Given the description of an element on the screen output the (x, y) to click on. 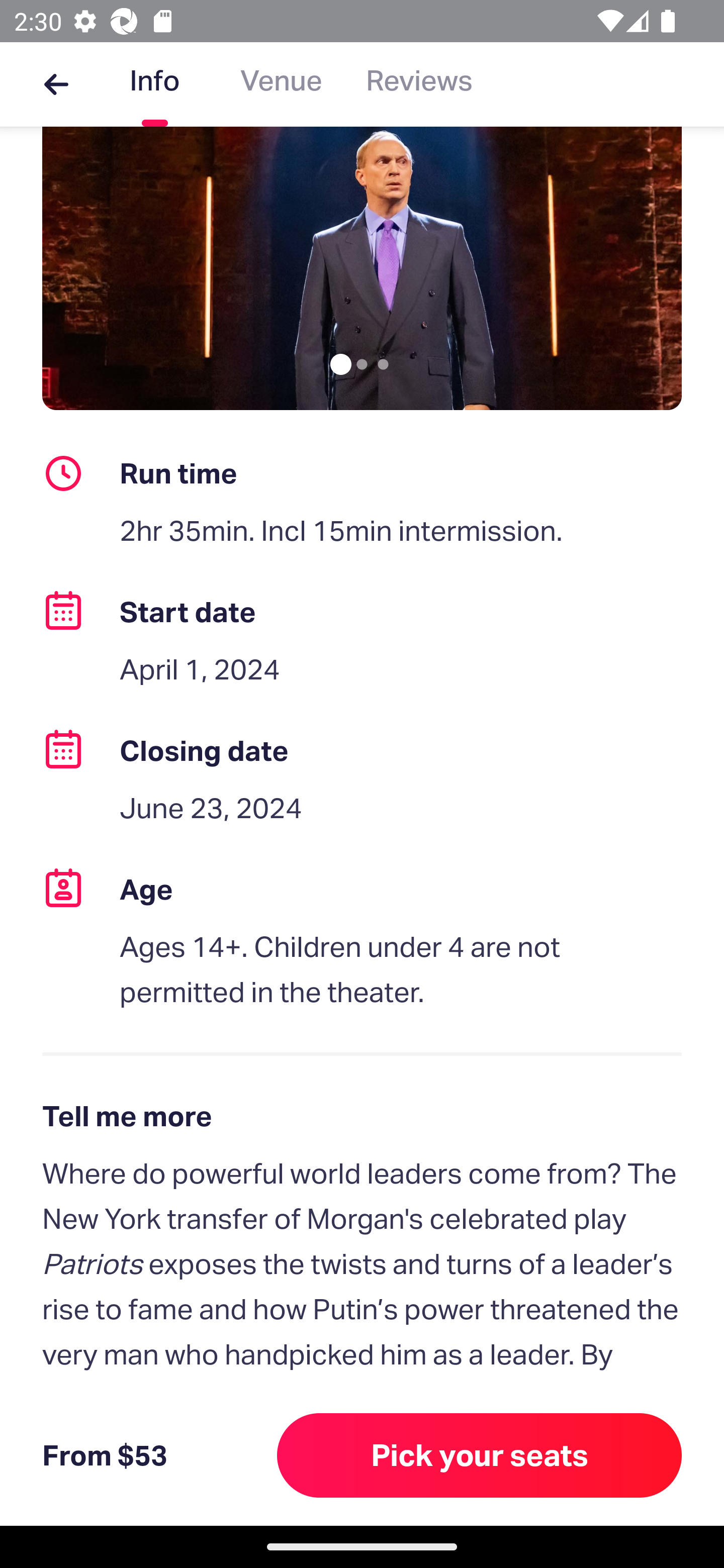
Venue (280, 84)
Reviews (419, 84)
Tell me more (361, 1115)
Pick your seats (479, 1454)
